Given the description of an element on the screen output the (x, y) to click on. 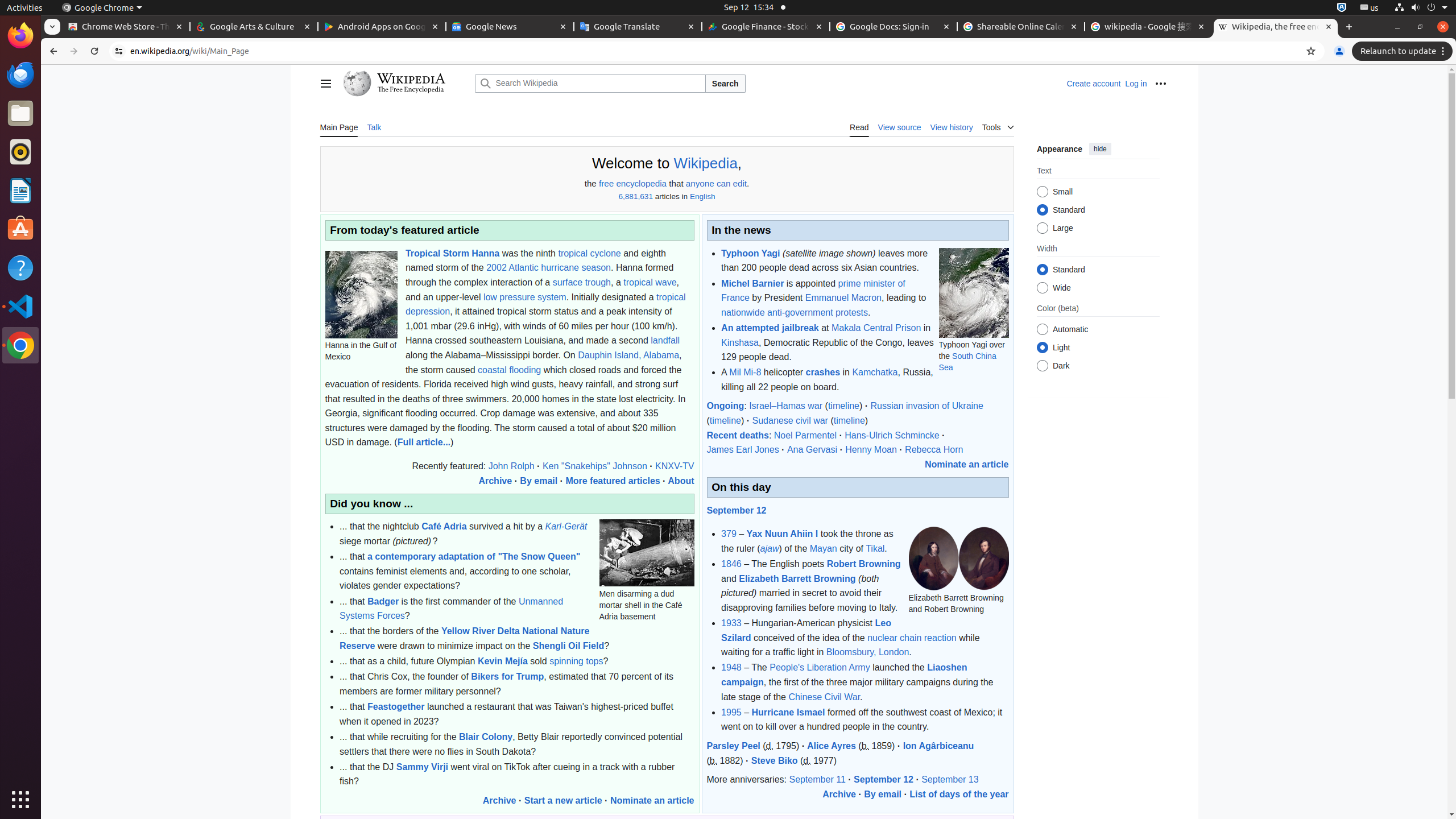
Archive Element type: link (495, 480)
Read Element type: link (859, 126)
tropical cyclone Element type: link (589, 252)
Bloomsbury, London Element type: link (867, 652)
Files Element type: push-button (20, 113)
